Given the description of an element on the screen output the (x, y) to click on. 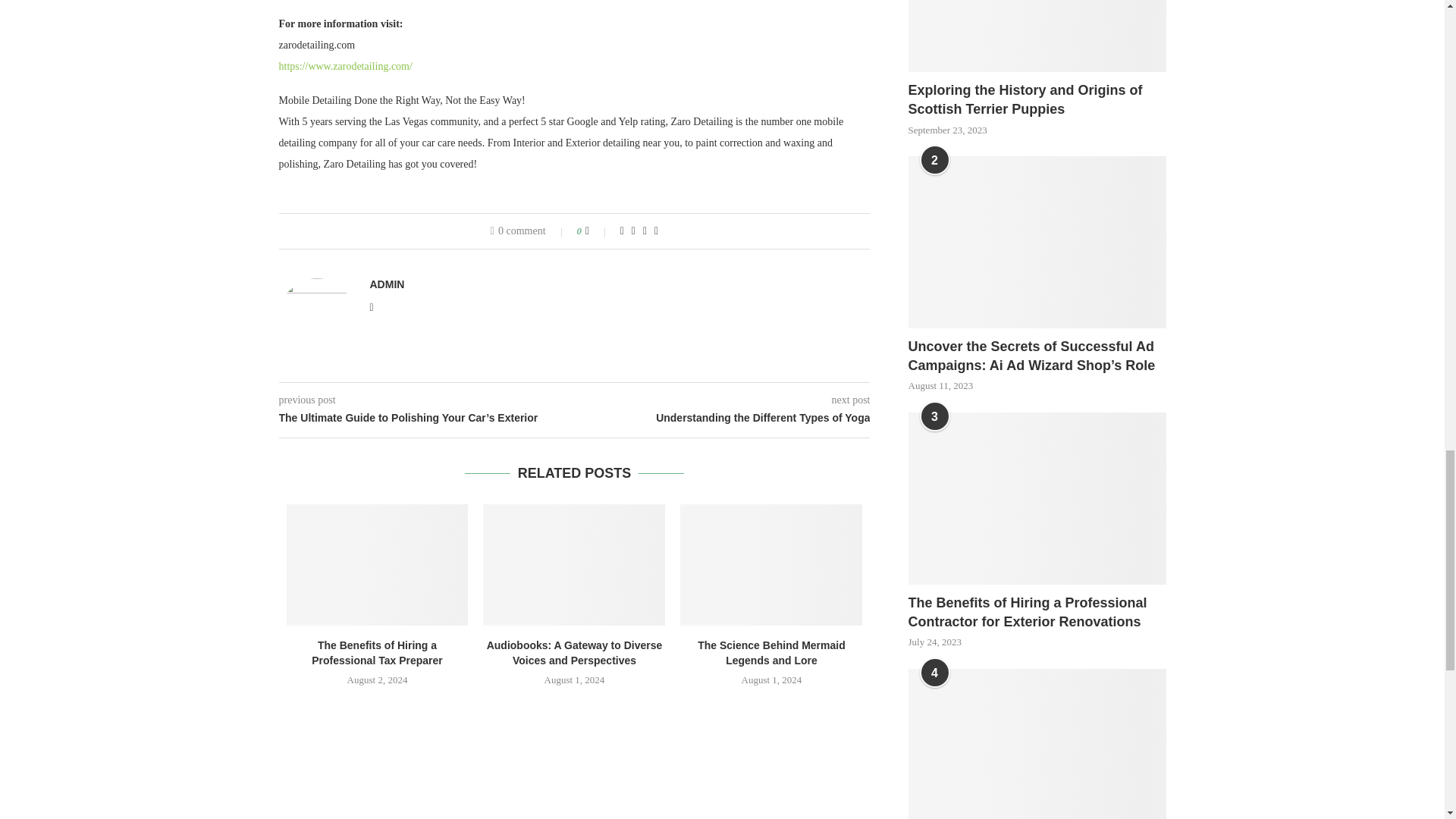
ADMIN (386, 284)
The Benefits of Hiring a Professional Tax Preparer (377, 564)
The Science Behind Mermaid Legends and Lore (770, 564)
Audiobooks: A Gateway to Diverse Voices and Perspectives (574, 564)
Understanding the Different Types of Yoga (722, 418)
Author admin (386, 284)
Like (597, 231)
